Given the description of an element on the screen output the (x, y) to click on. 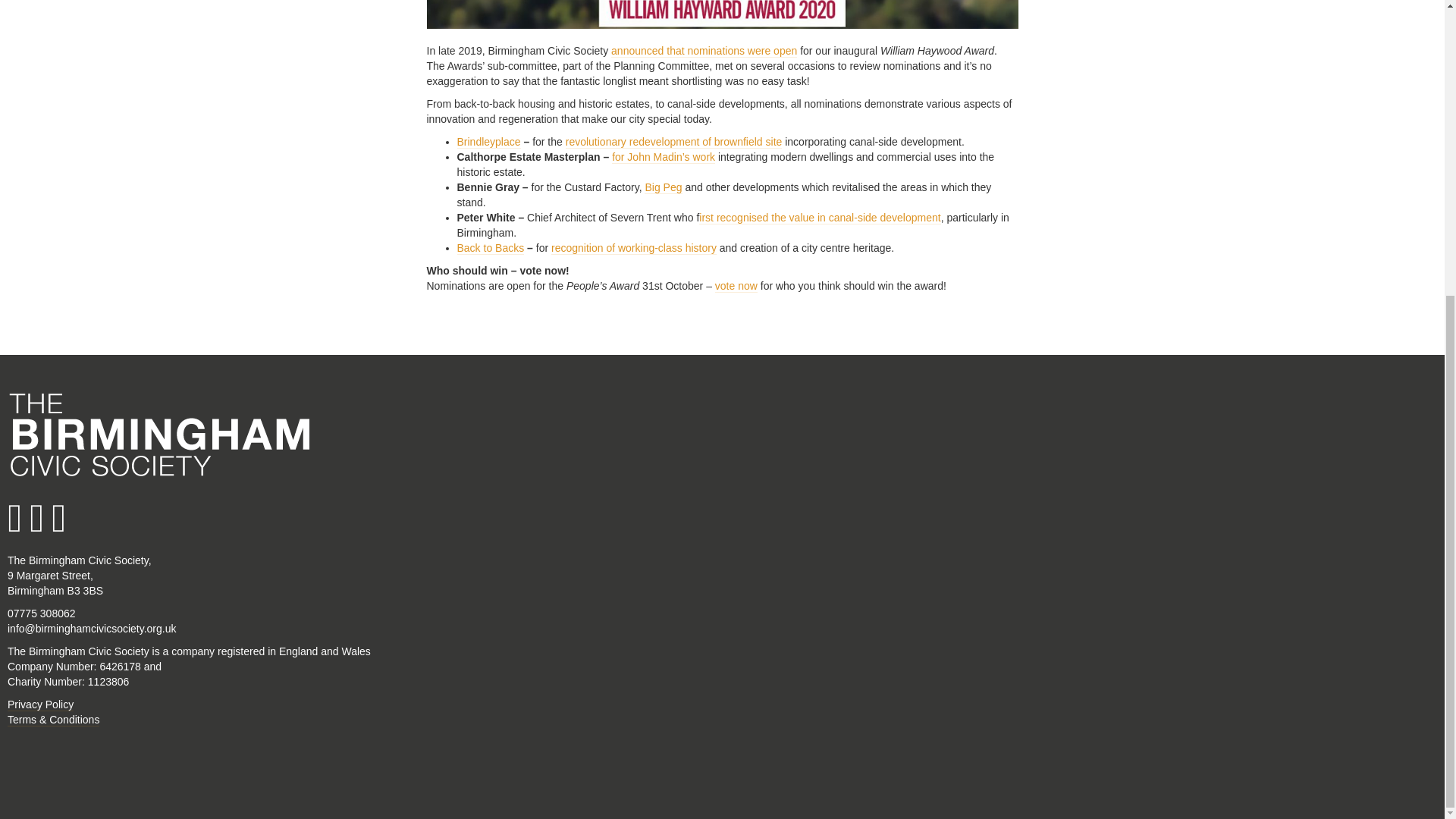
Privacy Policy (40, 704)
announced that nominations were open (703, 51)
Big Peg (663, 187)
Back to Backs (490, 247)
recognition of working-class history (633, 247)
revolutionary redevelopment of brownfield site (674, 141)
Brindleyplace (488, 141)
irst recognised the value in canal-side development (819, 217)
vote now (735, 286)
